Given the description of an element on the screen output the (x, y) to click on. 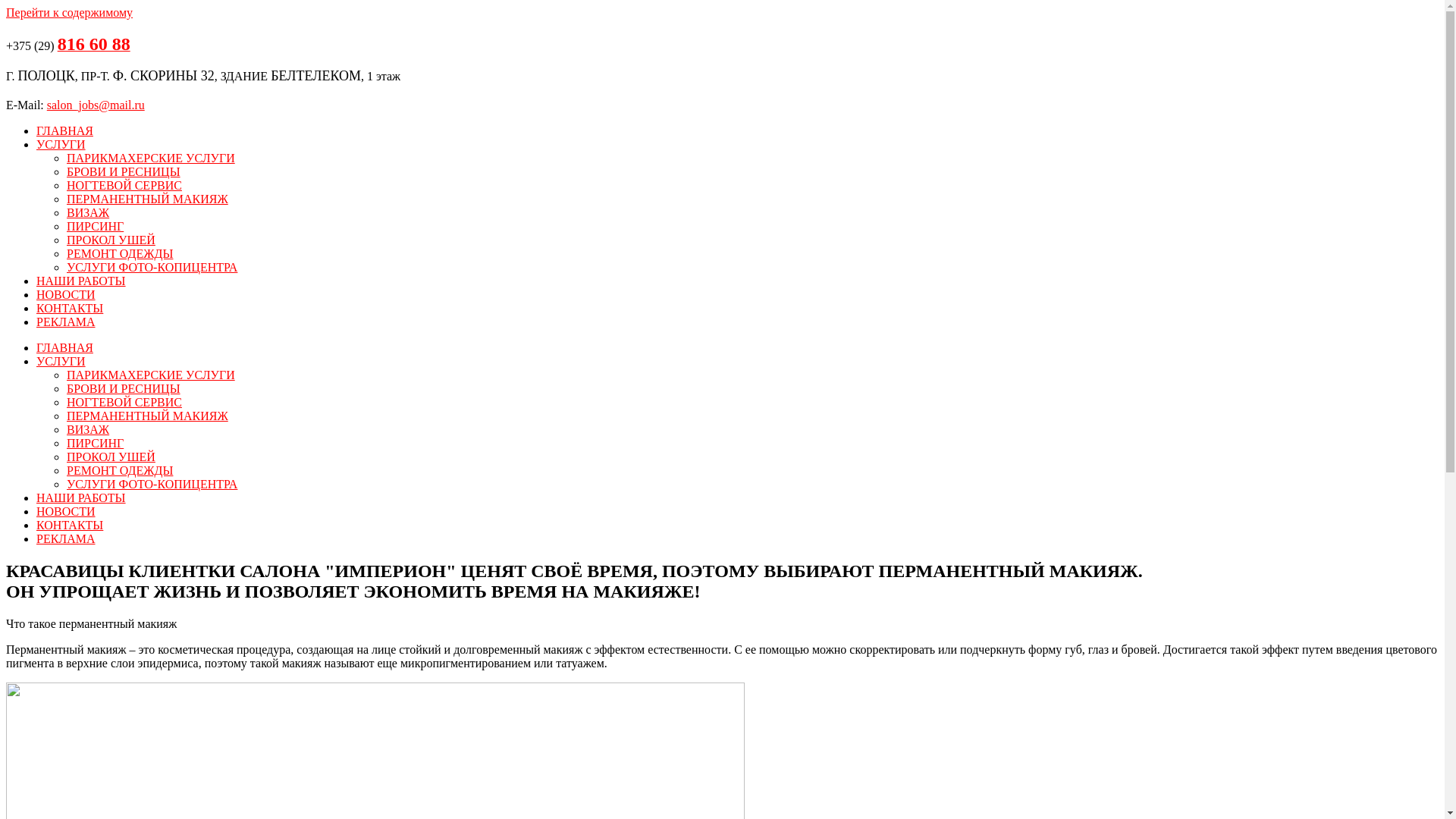
salon_jobs@mail.ru Element type: text (95, 104)
816 60 88 Element type: text (93, 45)
